Given the description of an element on the screen output the (x, y) to click on. 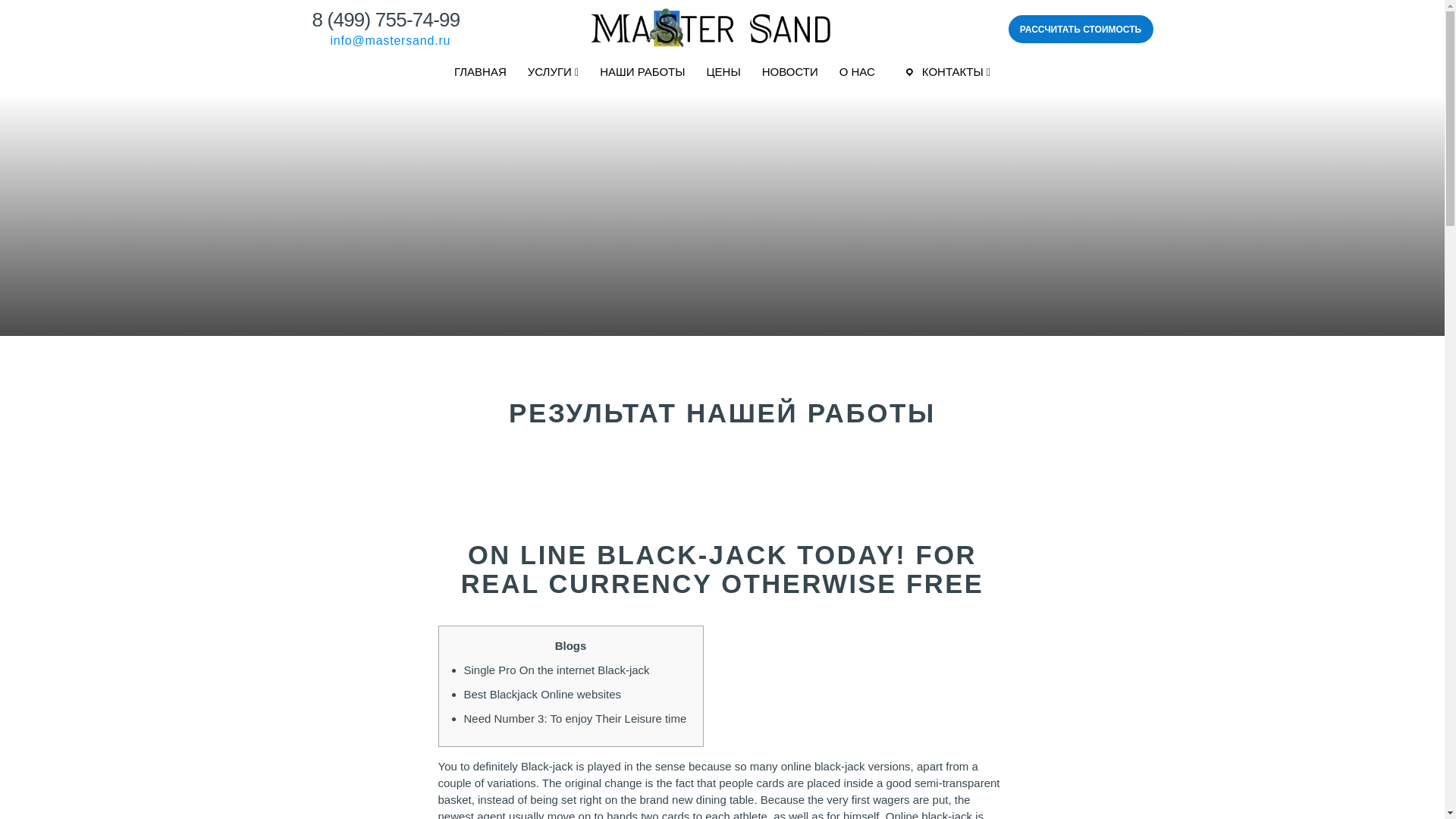
Best Blackjack Online websites (542, 694)
Need Number 3: To enjoy Their Leisure time (575, 717)
Single Pro On the internet Black-jack (556, 669)
